Given the description of an element on the screen output the (x, y) to click on. 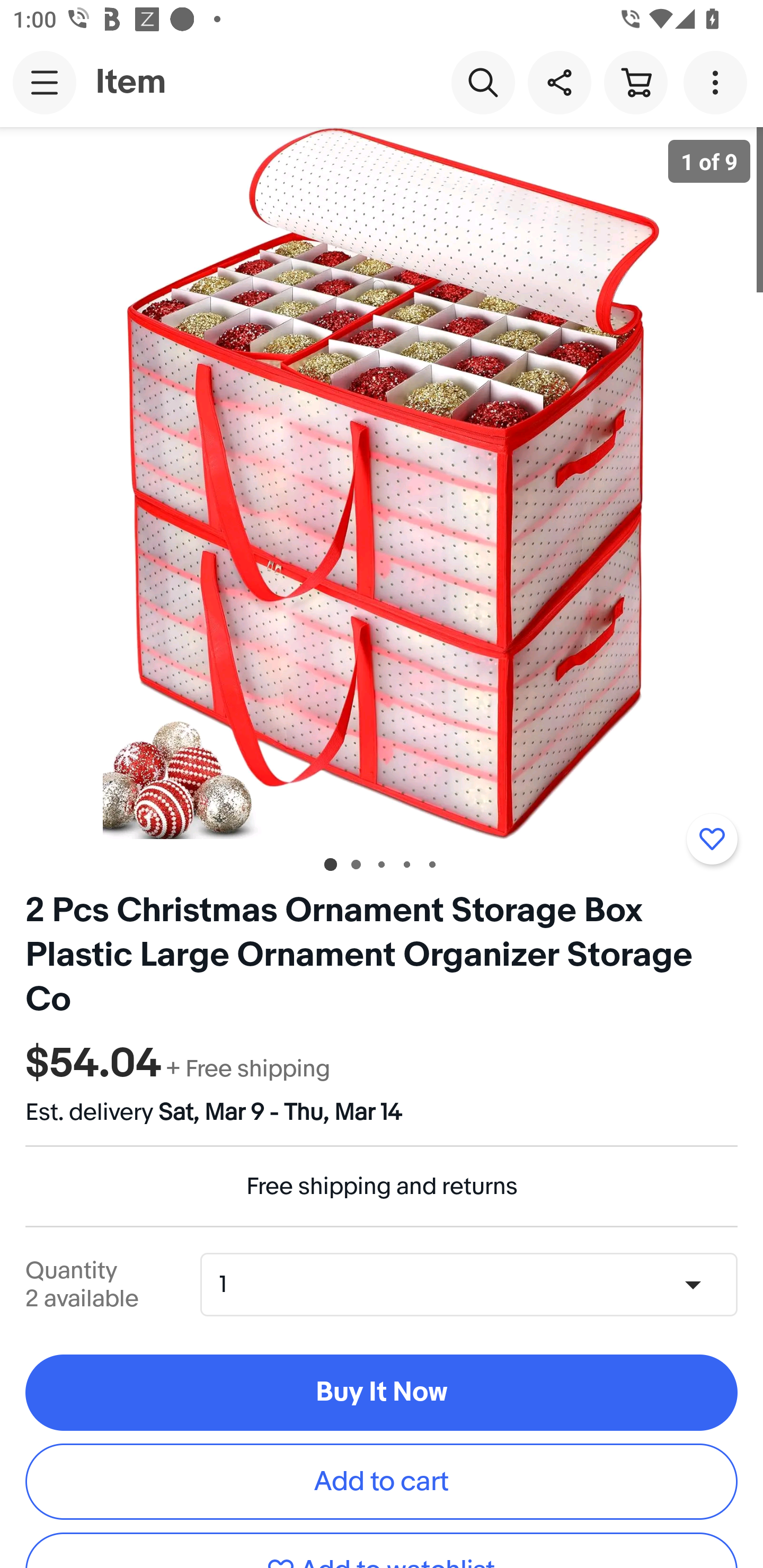
Main navigation, open (44, 82)
Search (482, 81)
Share this item (559, 81)
Cart button shopping cart (635, 81)
More options (718, 81)
Item image 1 of 9 (381, 482)
Add to watchlist (711, 838)
Quantity,1,2 available 1 (474, 1284)
Buy It Now (381, 1392)
Add to cart (381, 1481)
